Given the description of an element on the screen output the (x, y) to click on. 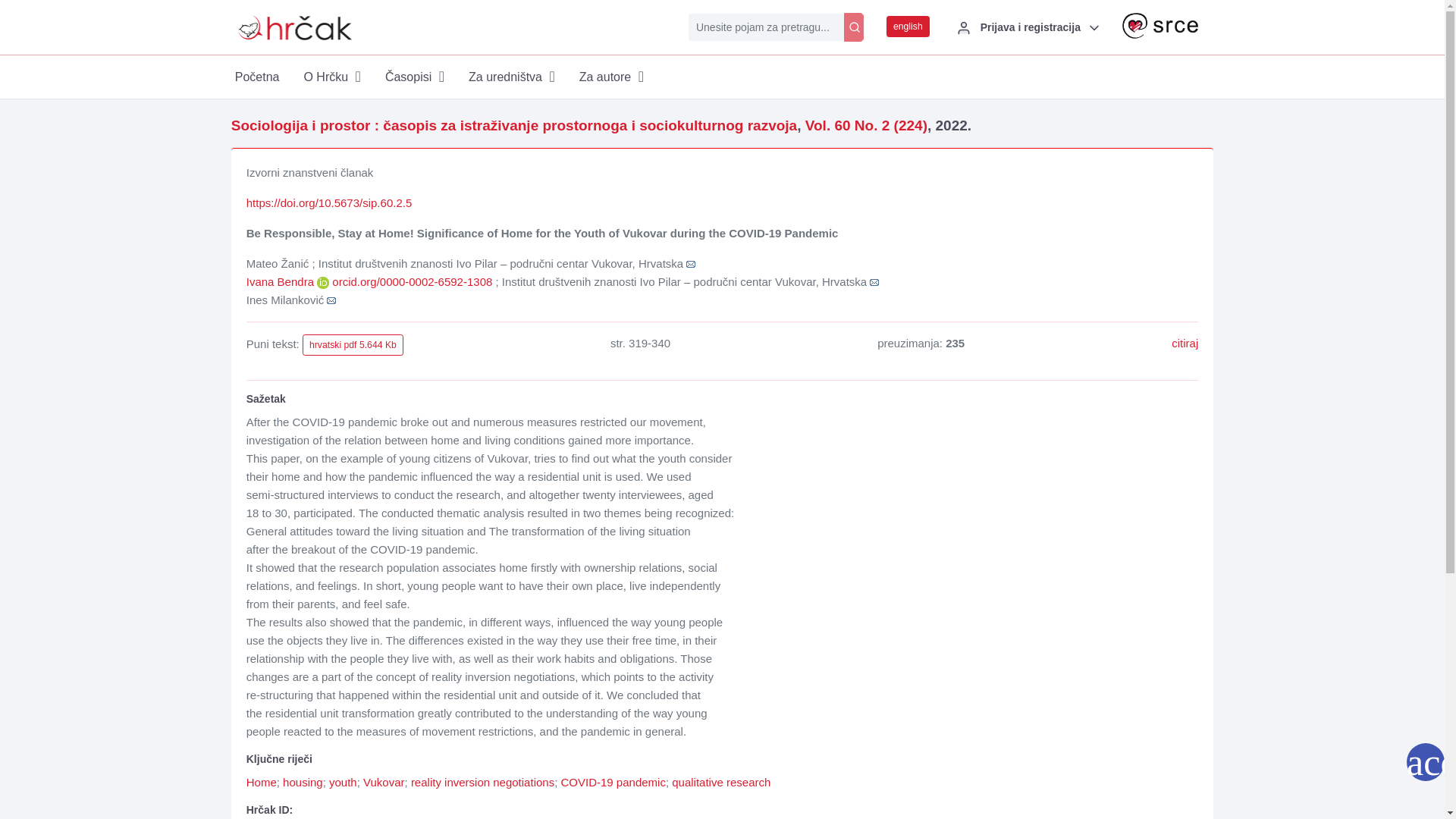
mail (331, 300)
submit (853, 27)
mail (690, 264)
Za autore (611, 76)
Ivana Bendra (281, 281)
mail (874, 282)
doi (329, 202)
Prijava i registracija (1025, 27)
english (908, 25)
